Given the description of an element on the screen output the (x, y) to click on. 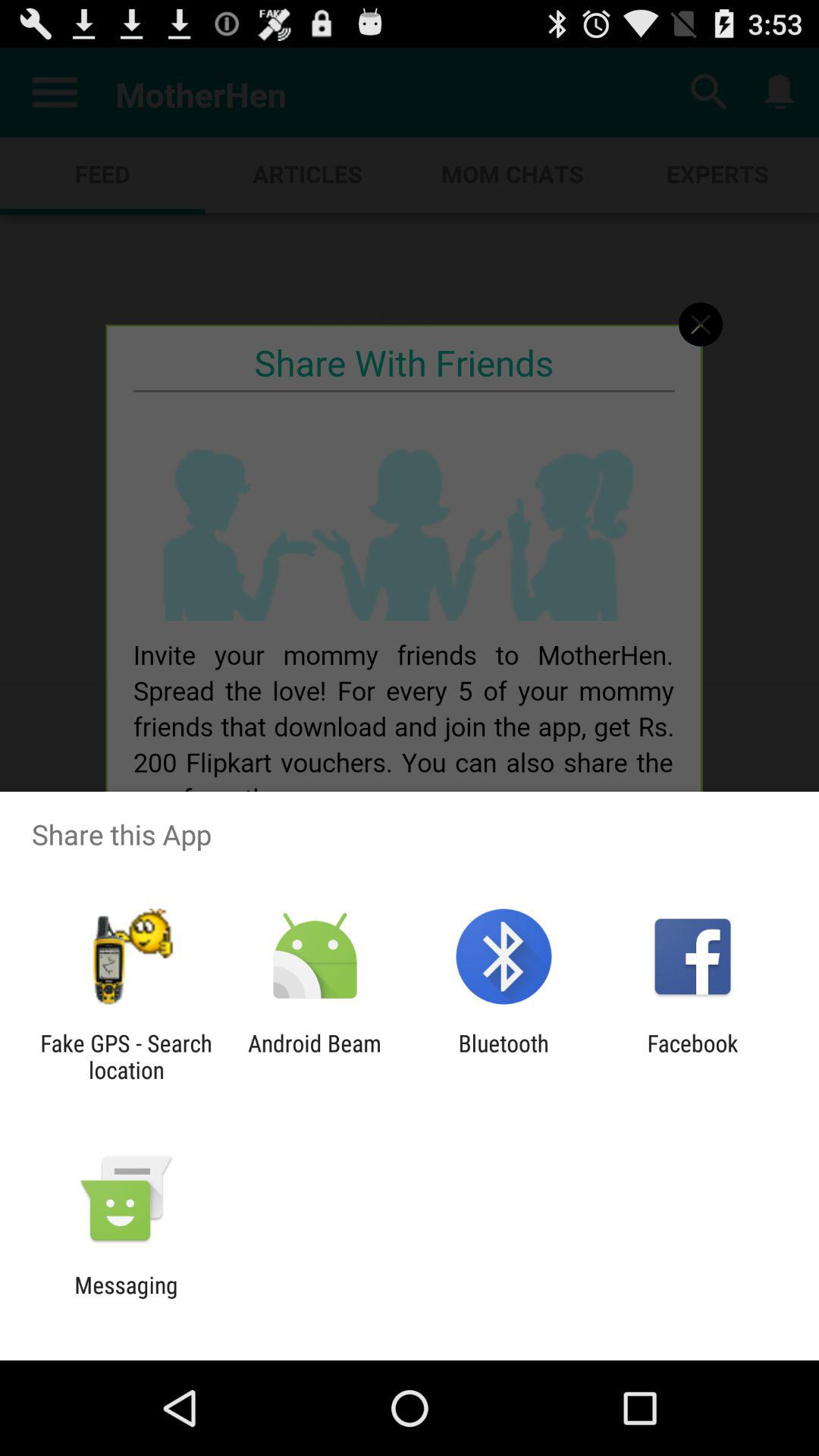
choose fake gps search app (125, 1056)
